Given the description of an element on the screen output the (x, y) to click on. 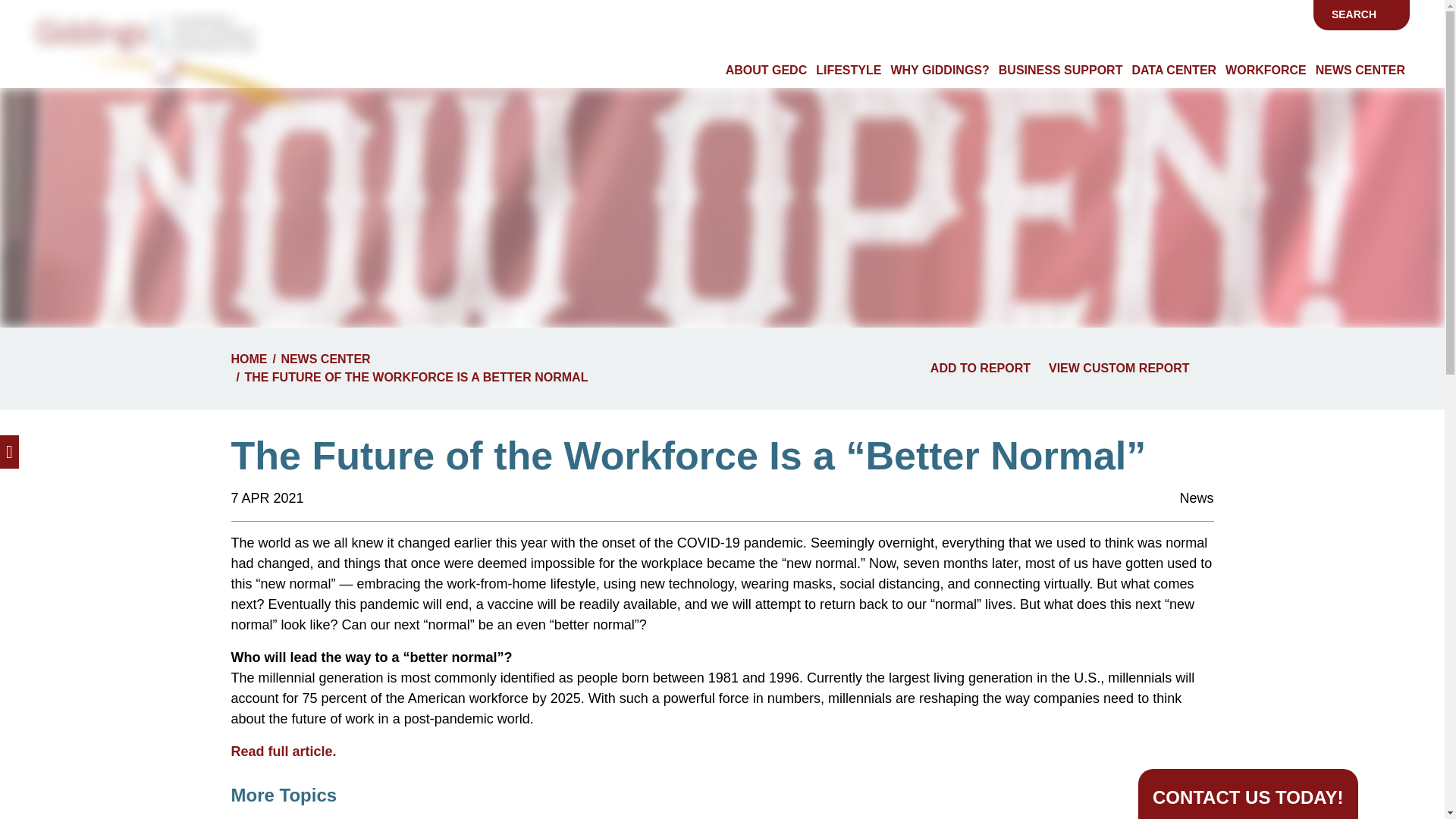
BUSINESS SUPPORT (1060, 70)
SEARCH (1361, 14)
ABOUT GEDC (766, 70)
LIFESTYLE (847, 70)
DATA CENTER (1173, 70)
WHY GIDDINGS? (938, 70)
